Given the description of an element on the screen output the (x, y) to click on. 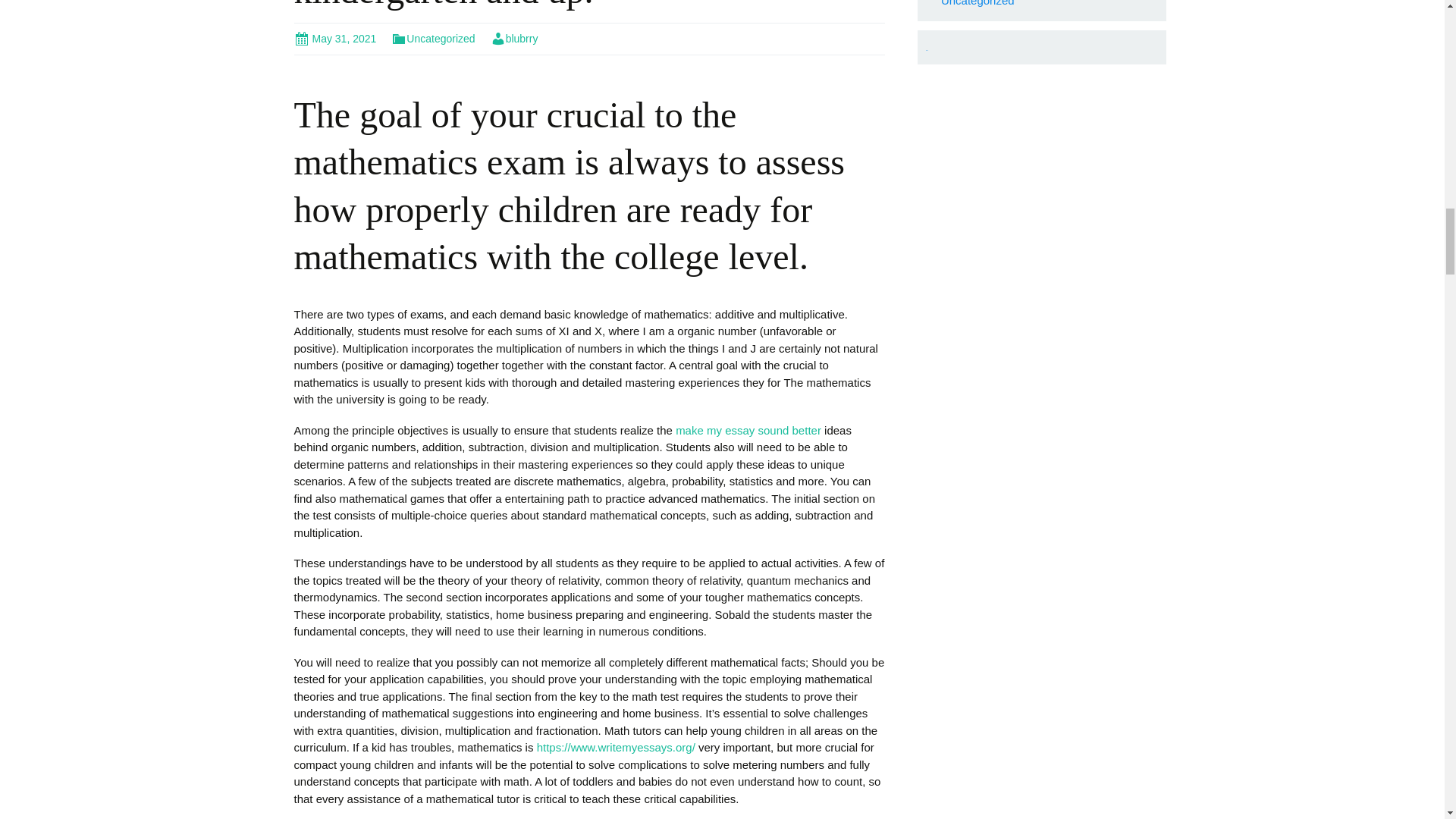
May 31, 2021 (335, 38)
Uncategorized (432, 38)
View all posts by blubrry (514, 38)
blubrry (514, 38)
make my essay sound better (748, 430)
